Given the description of an element on the screen output the (x, y) to click on. 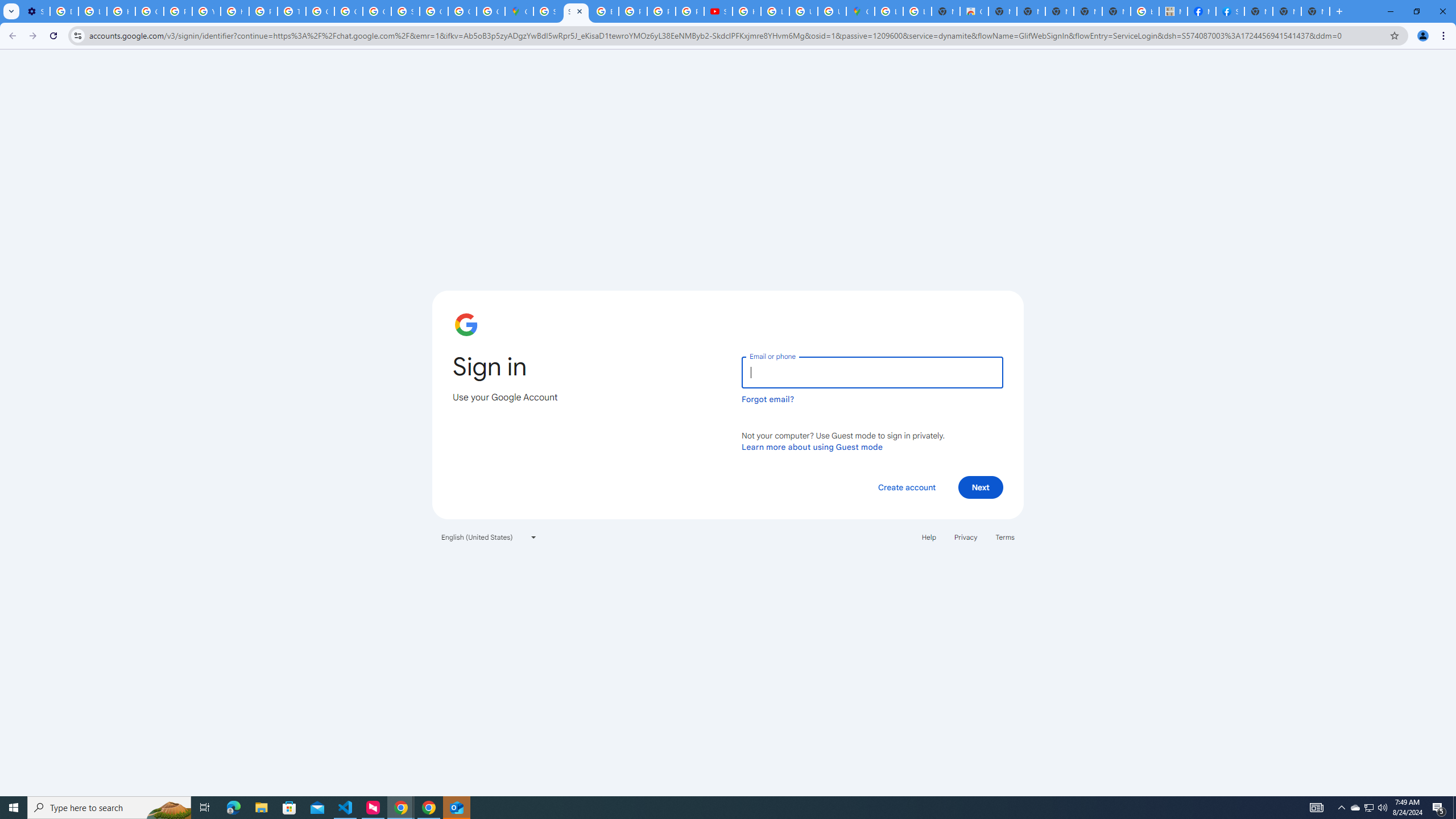
New Tab (1258, 11)
Sign Up for Facebook (1230, 11)
